Given the description of an element on the screen output the (x, y) to click on. 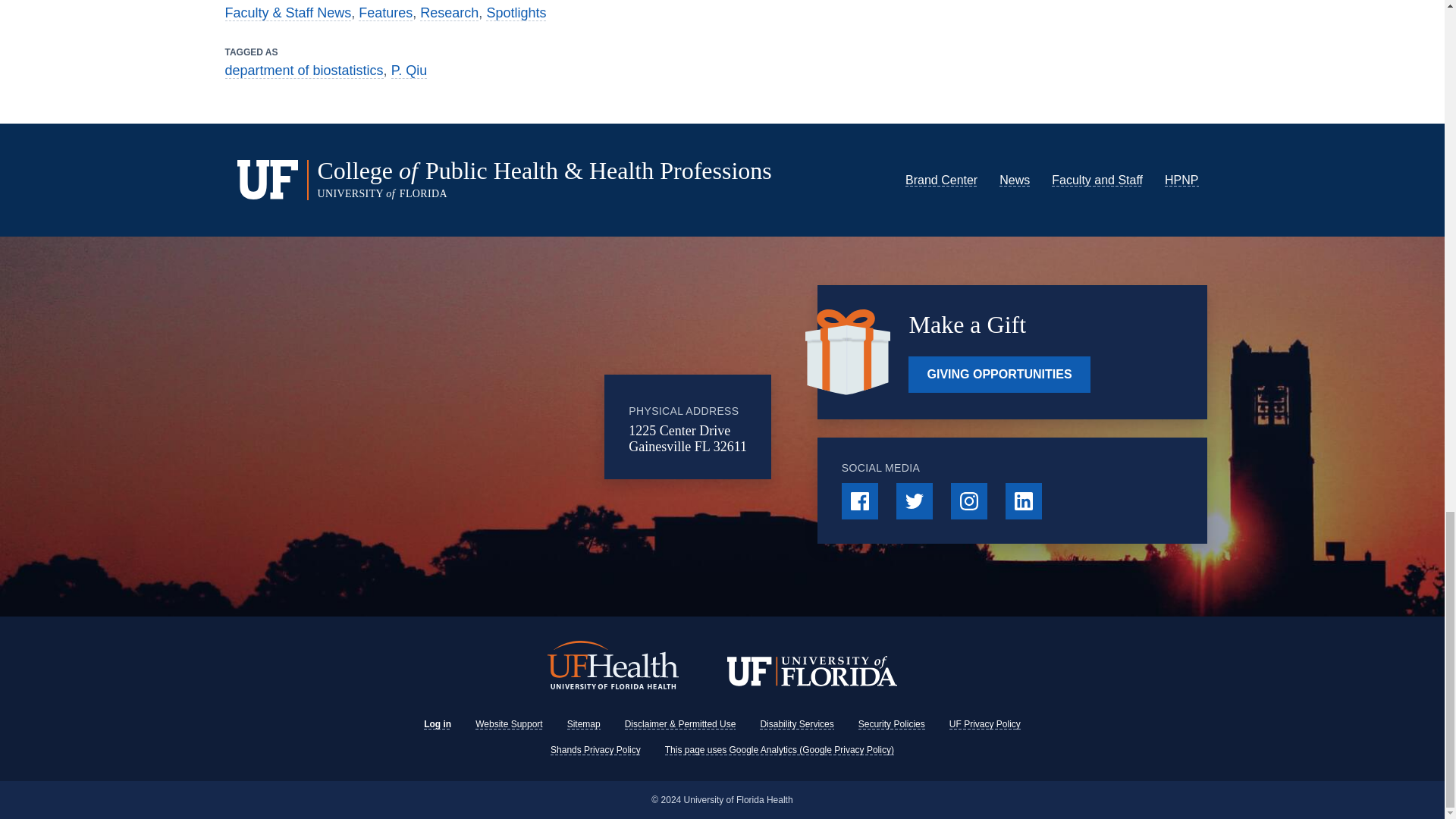
Sitemap (583, 724)
Shands Privacy Policy (595, 749)
Disability Services (796, 724)
Faculty and Staff (1096, 179)
Google Maps Embed (480, 426)
News (1013, 179)
UF Privacy Policy (984, 724)
HPNP (1181, 179)
Brand Center (940, 179)
Log in (437, 724)
Security Policies (891, 724)
Website Support (509, 724)
